Given the description of an element on the screen output the (x, y) to click on. 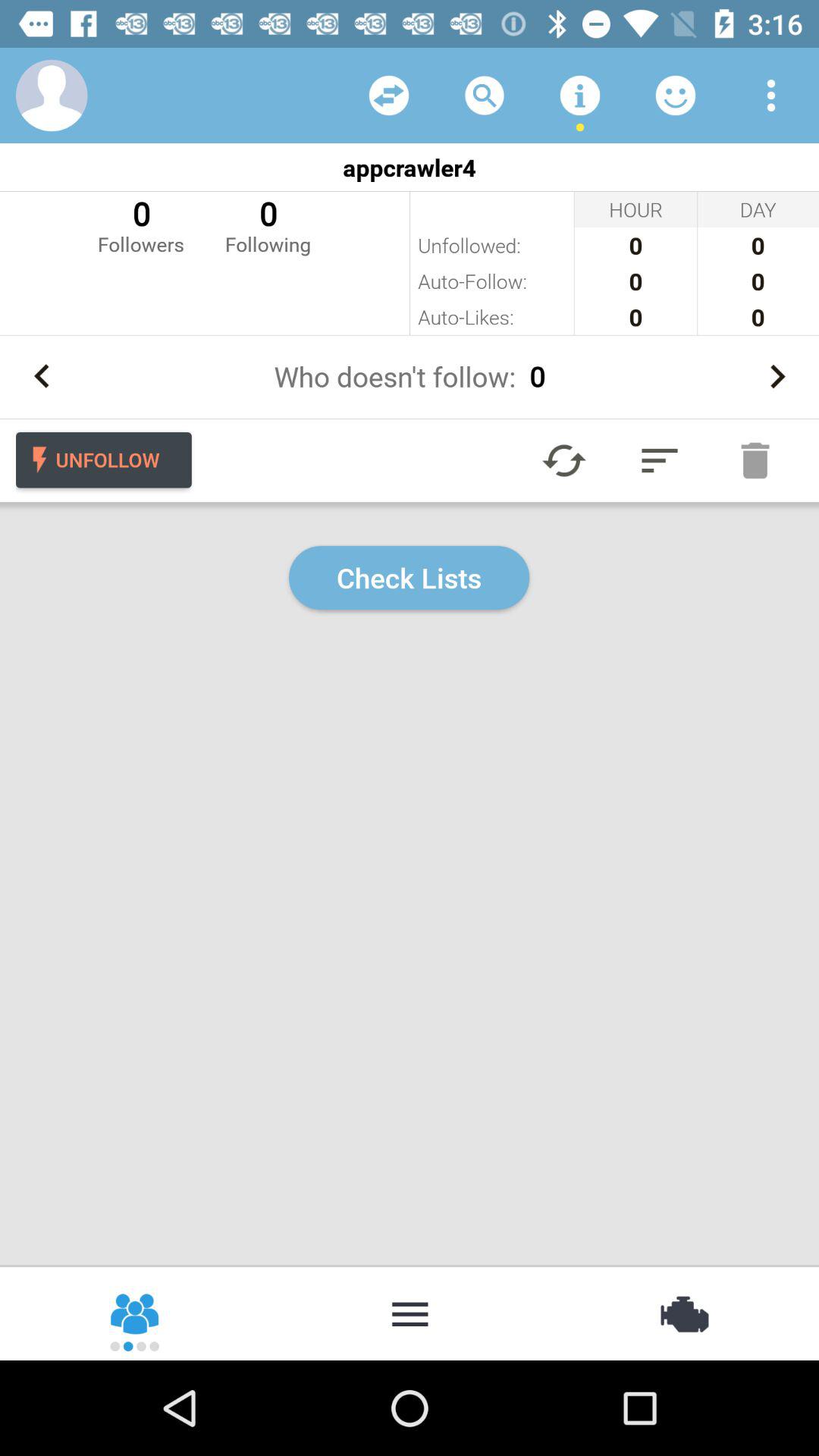
get information (579, 95)
